Given the description of an element on the screen output the (x, y) to click on. 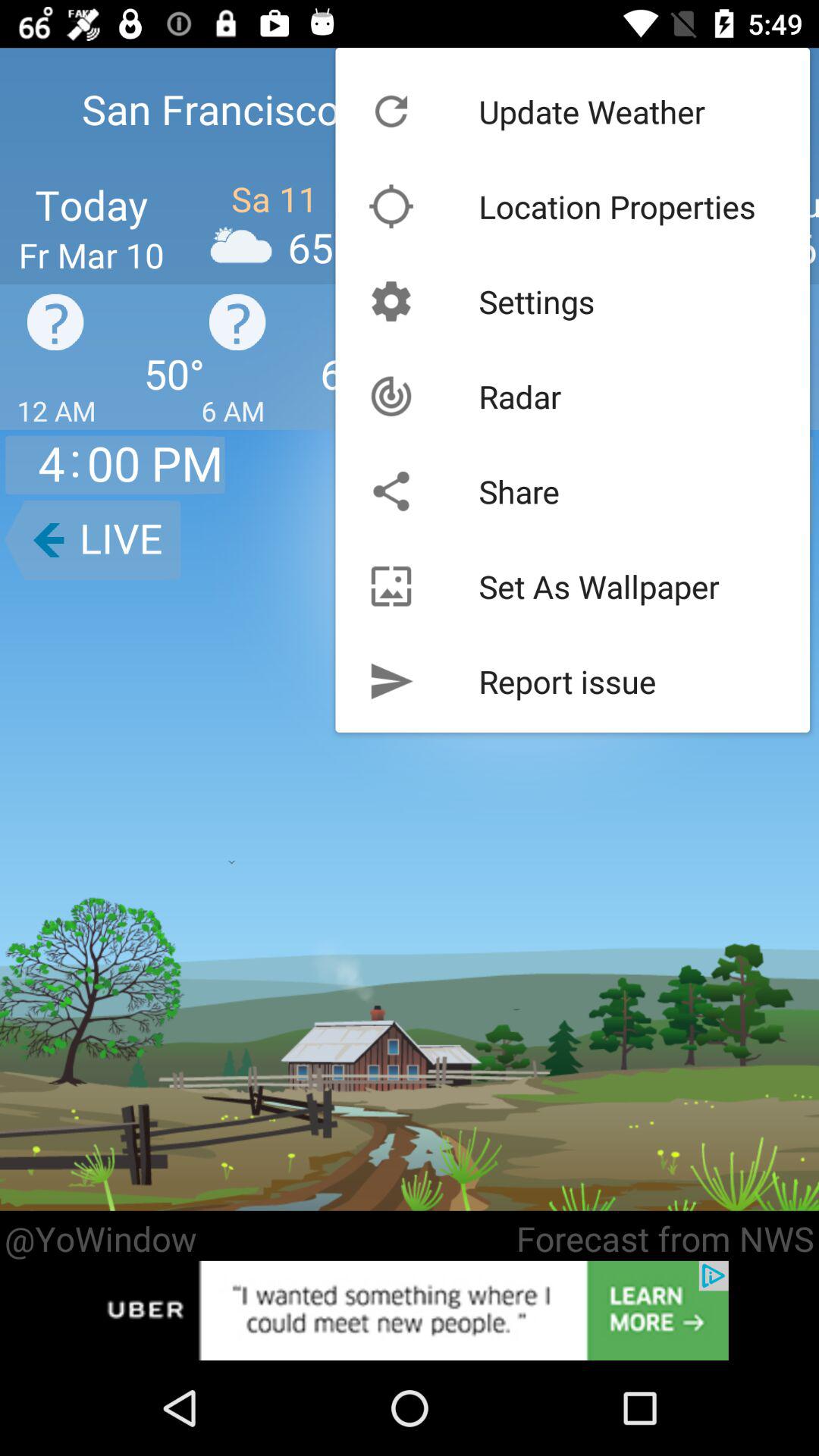
click the set as wallpaper (598, 585)
